Given the description of an element on the screen output the (x, y) to click on. 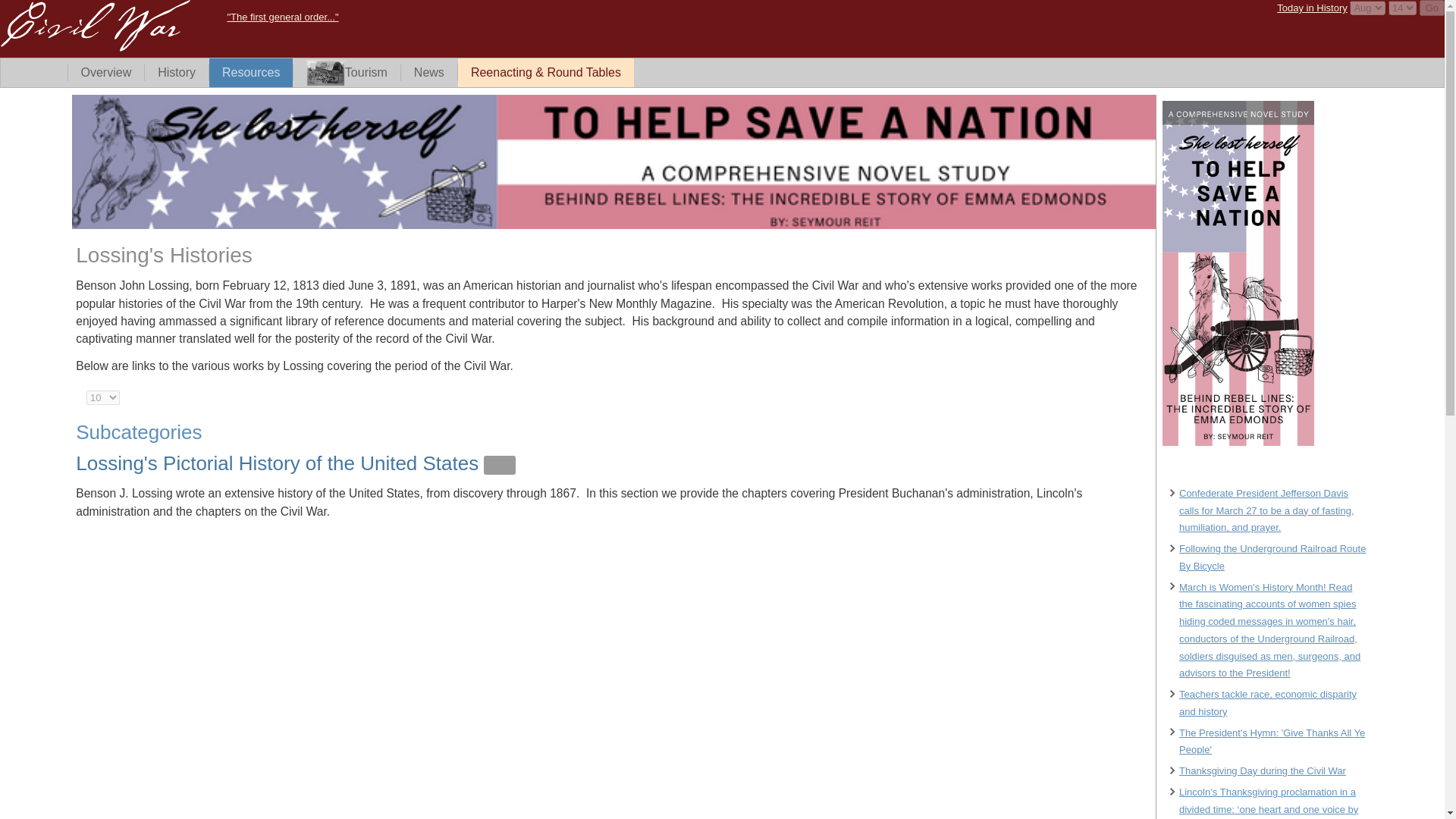
History (176, 72)
Overview (106, 72)
jump day (1367, 7)
"The first general order..." (282, 16)
Today in History (1311, 7)
Smart Simple Behind Rebel Lines right (1237, 441)
